Given the description of an element on the screen output the (x, y) to click on. 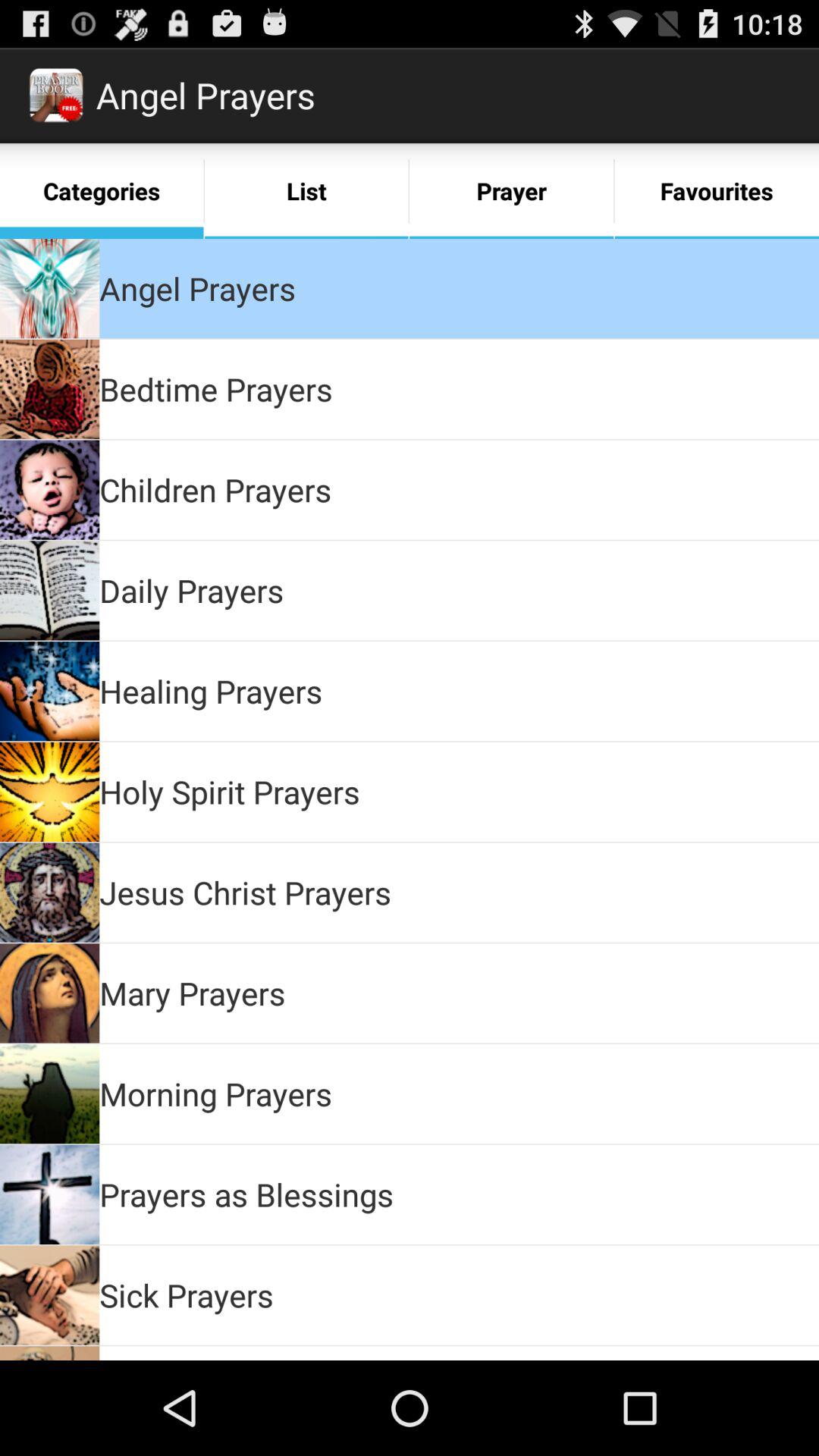
swipe to the sick prayers item (186, 1294)
